Given the description of an element on the screen output the (x, y) to click on. 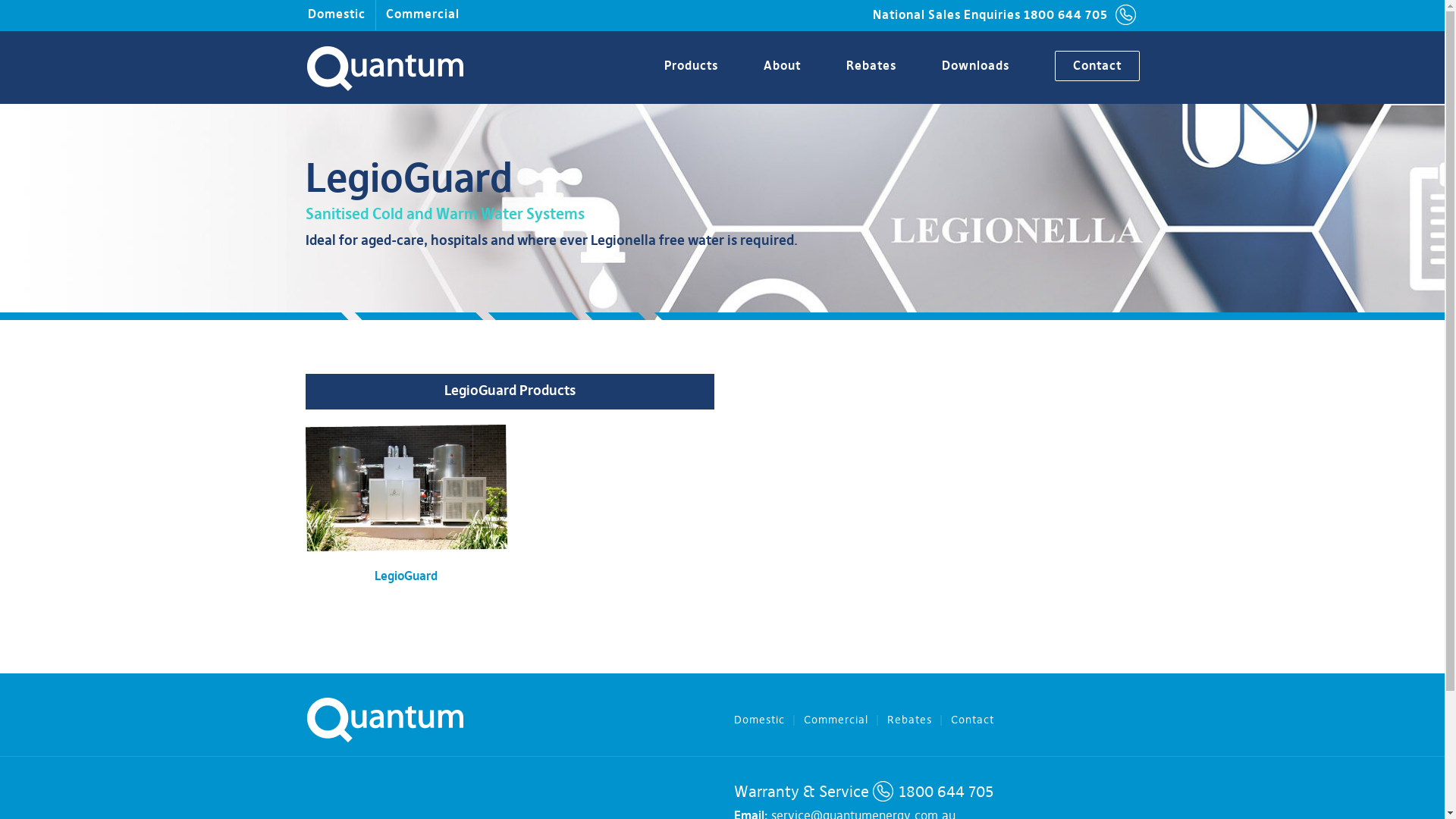
Rebates Element type: text (918, 720)
About Element type: text (768, 67)
LegioGuard Element type: text (405, 577)
Products Element type: text (677, 67)
Rebates Element type: text (857, 67)
Domestic Element type: text (768, 720)
Contact Element type: text (979, 720)
Commercial Element type: text (845, 720)
Contact Element type: text (1083, 67)
Domestic Element type: text (335, 15)
Downloads Element type: text (961, 67)
Commercial Element type: text (422, 15)
